Given the description of an element on the screen output the (x, y) to click on. 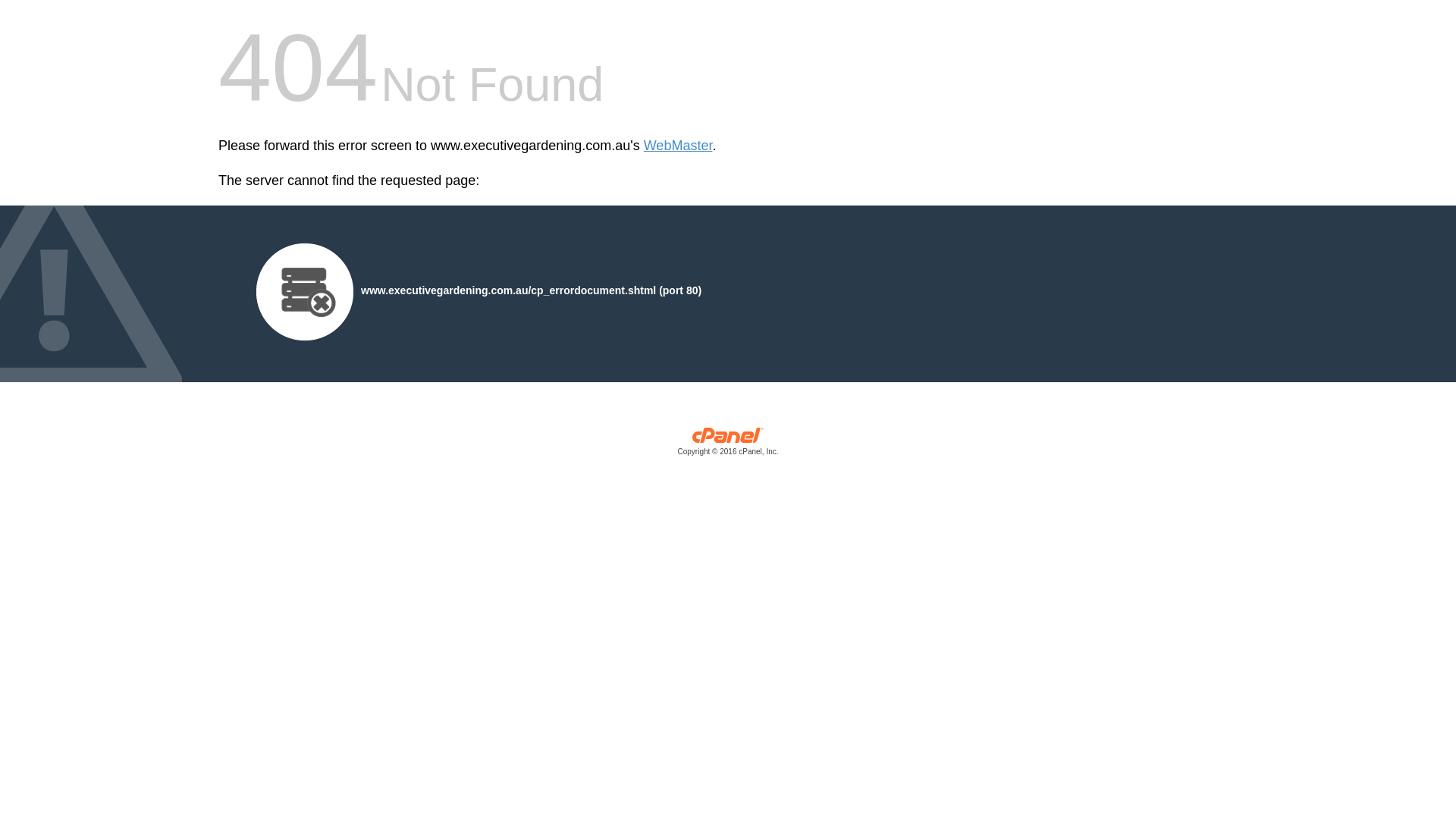
WebMaster Element type: text (677, 145)
